Given the description of an element on the screen output the (x, y) to click on. 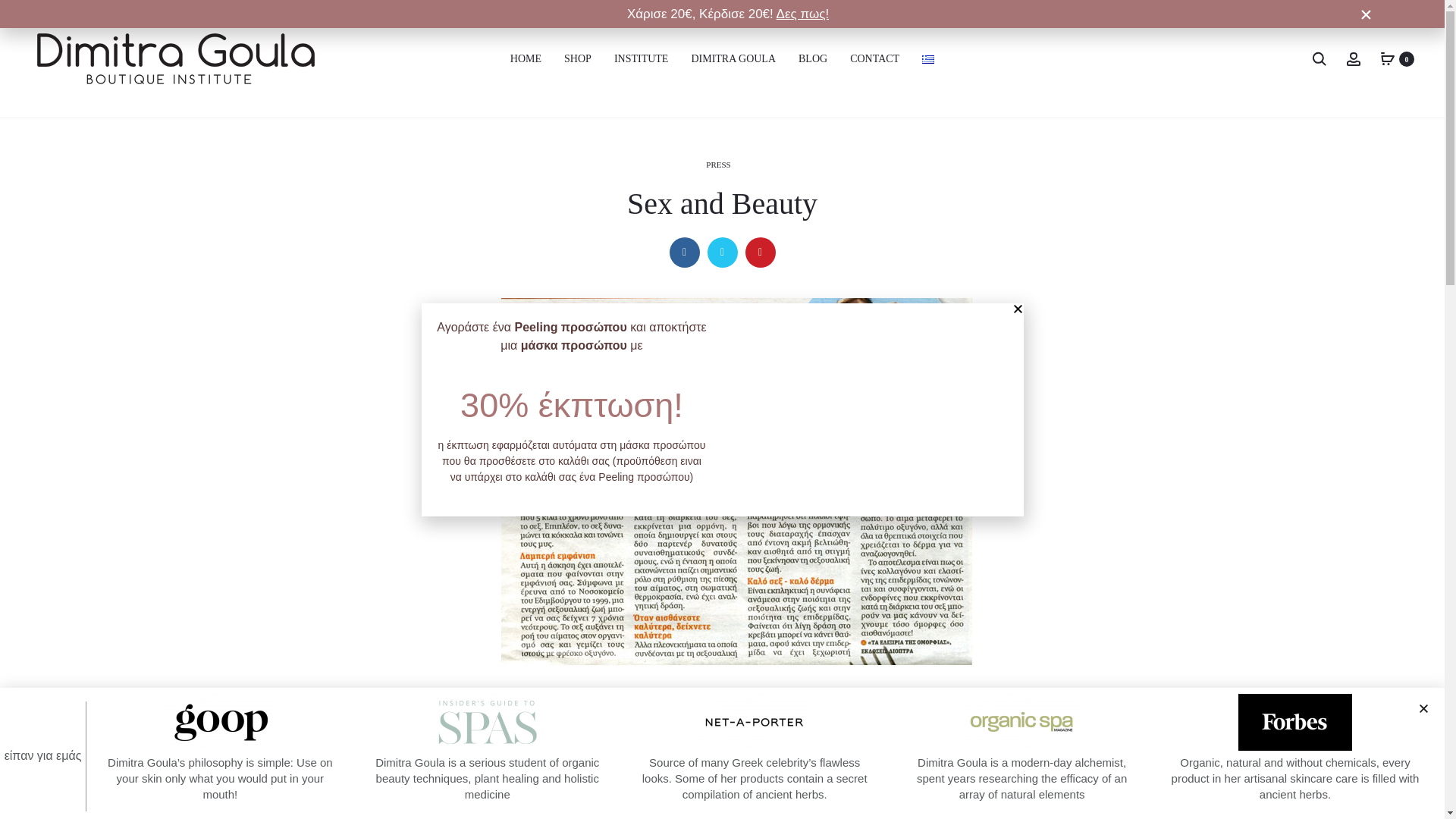
organic (1021, 721)
INSTITUTE (641, 57)
forbes (1295, 721)
SHOP (577, 57)
HOME (526, 57)
goop (219, 721)
spa (487, 721)
net (753, 721)
